Given the description of an element on the screen output the (x, y) to click on. 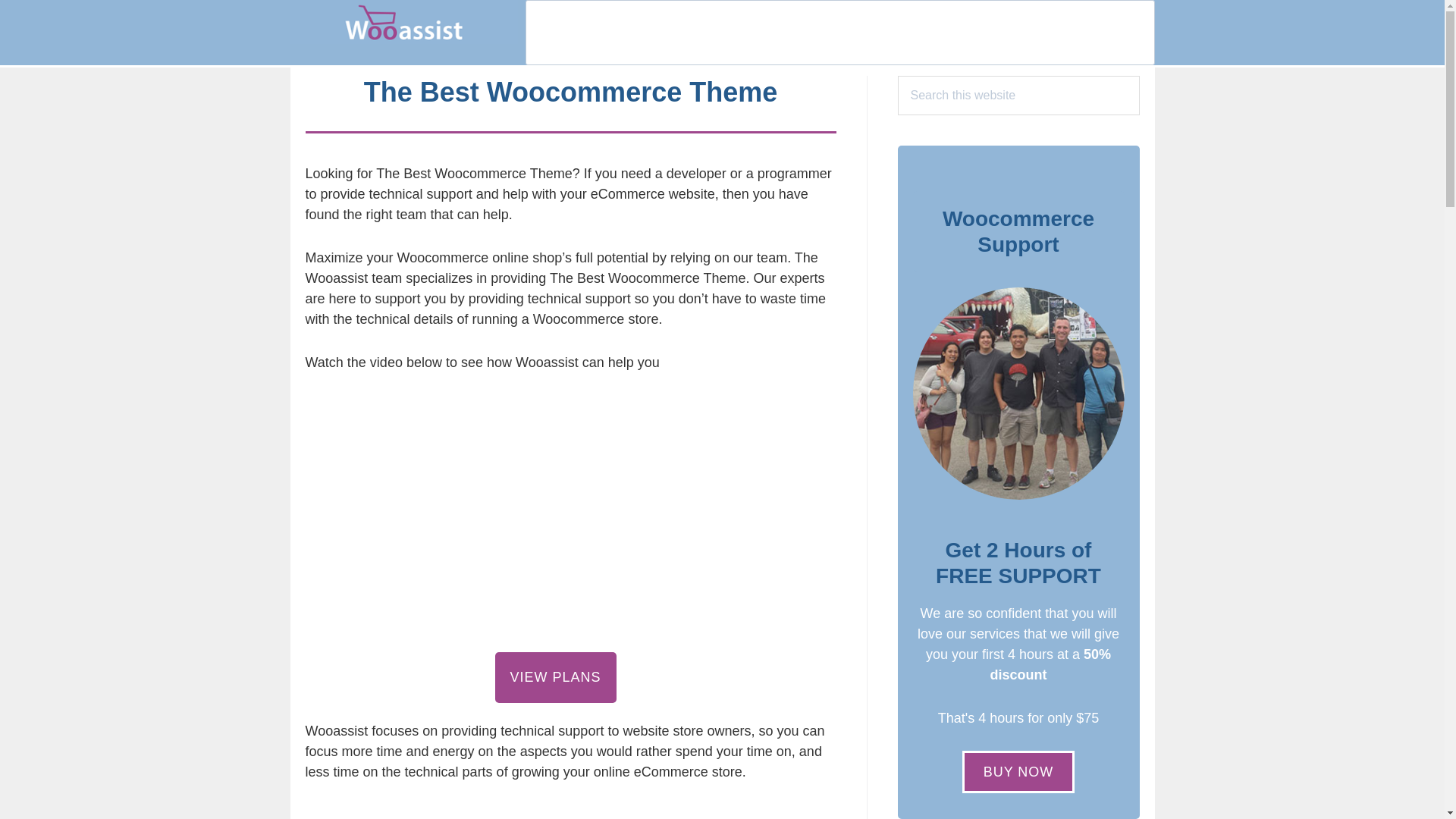
HOW IT WORKS (623, 31)
CONTACT (1106, 31)
ABOUT US (1007, 31)
VIEW PLANS (555, 676)
SERVICES (833, 31)
BLOG (919, 31)
PRICING (737, 31)
BUY NOW (1018, 772)
WOOASSIST (402, 26)
